Given the description of an element on the screen output the (x, y) to click on. 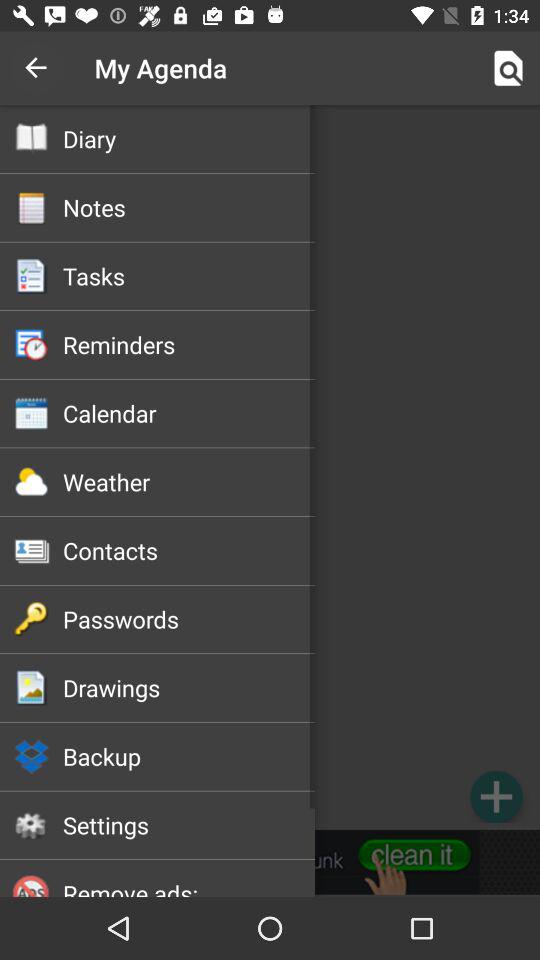
add note (496, 796)
